Given the description of an element on the screen output the (x, y) to click on. 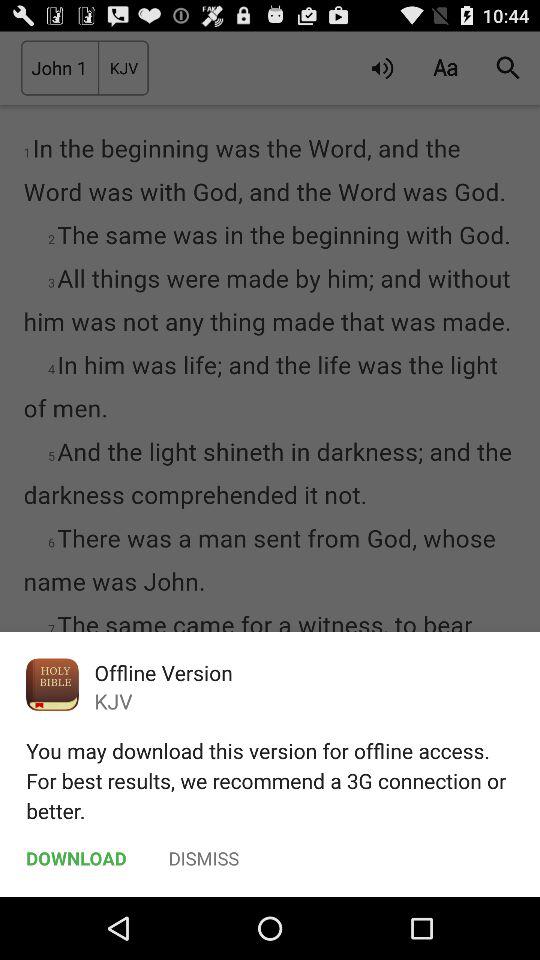
turn on item at the center (270, 463)
